Given the description of an element on the screen output the (x, y) to click on. 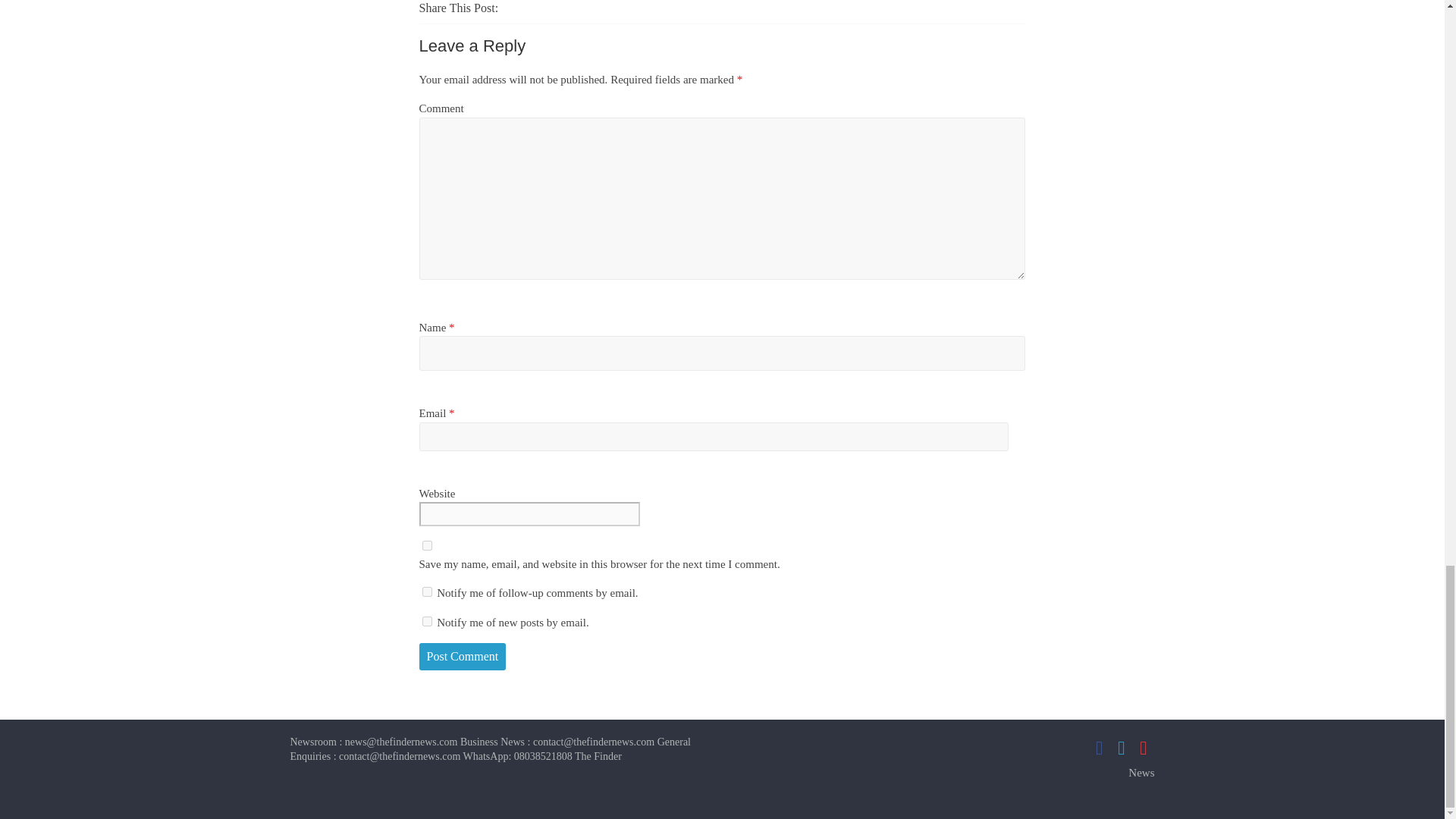
subscribe (426, 621)
News (1141, 772)
subscribe (426, 592)
yes (426, 545)
Post Comment (462, 656)
Post Comment (462, 656)
